Given the description of an element on the screen output the (x, y) to click on. 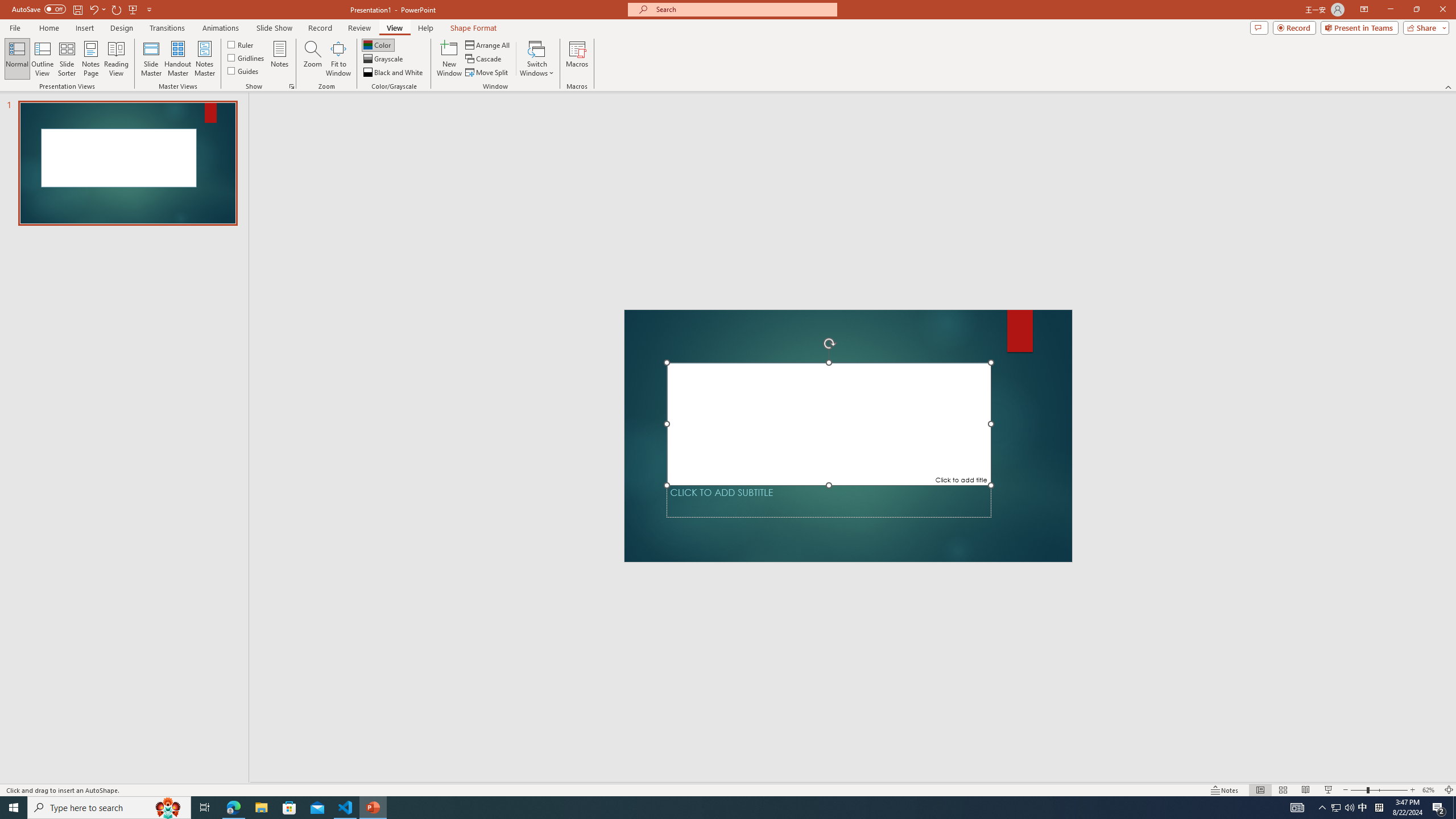
New Window (449, 58)
Move Split (487, 72)
Handout Master (177, 58)
